Given the description of an element on the screen output the (x, y) to click on. 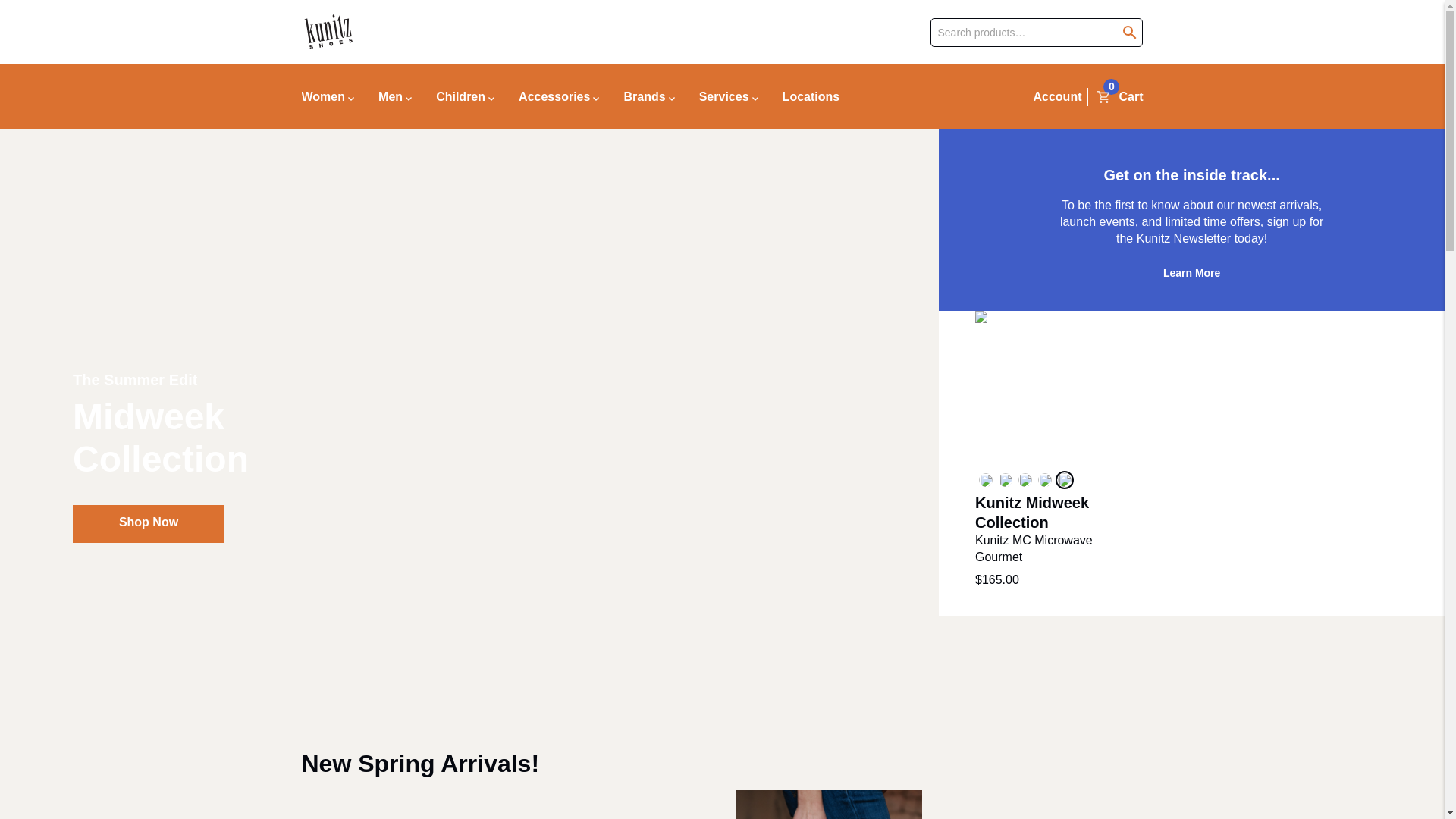
Search (106, 18)
Men (394, 95)
Women (333, 95)
Kunitz Shoes (328, 32)
